Given the description of an element on the screen output the (x, y) to click on. 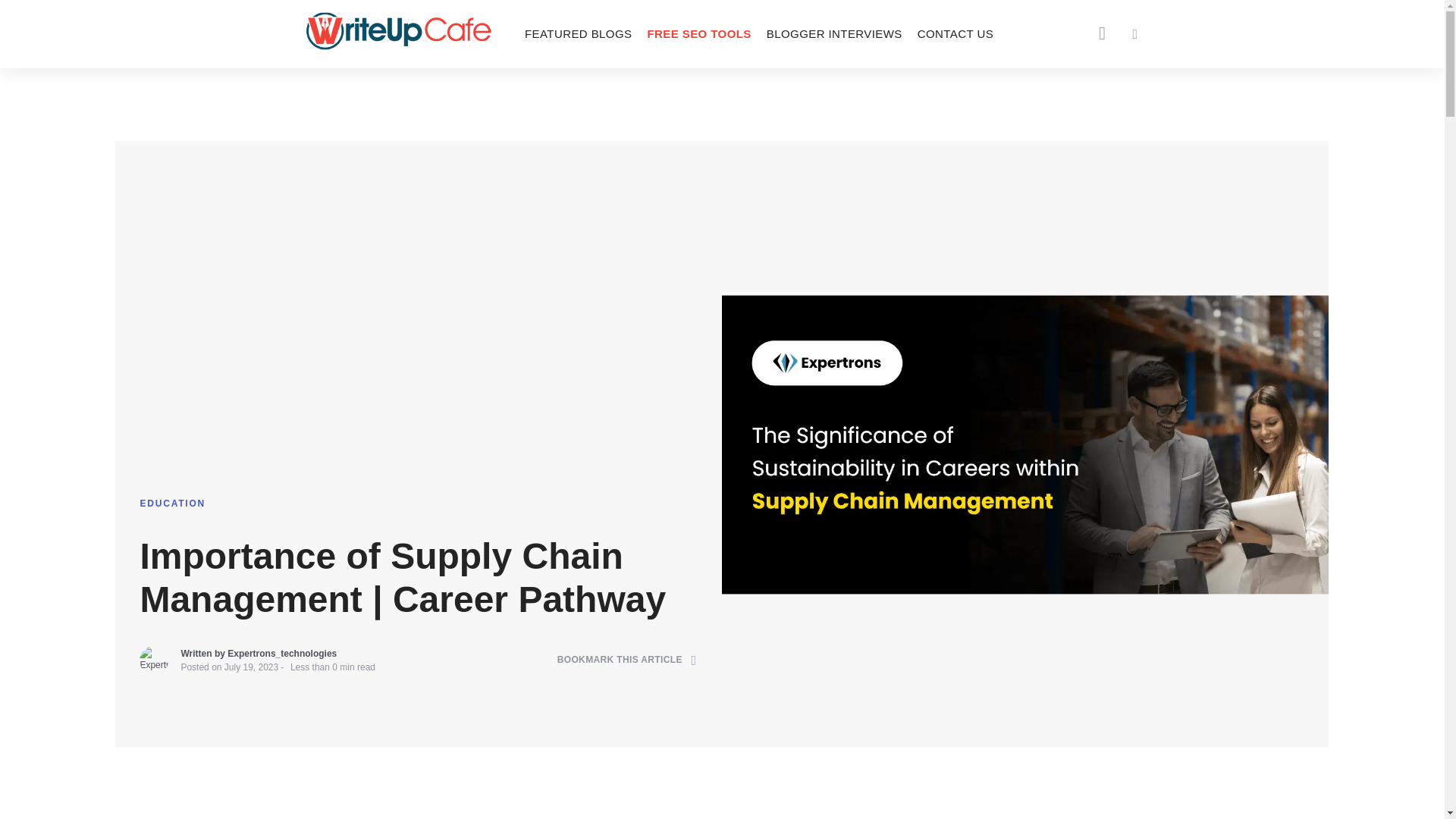
BOOKMARK THIS ARTICLE (627, 660)
BLOGGER INTERVIEWS (834, 33)
July 19, 2023 (251, 666)
FEATURED BLOGS (577, 33)
FEATURED BLOGS (577, 33)
FREE SEO TOOLS (698, 33)
BLOGGER INTERVIEWS (834, 33)
CONTACT US (955, 33)
EDUCATION (172, 502)
CONTACT US (955, 33)
